Given the description of an element on the screen output the (x, y) to click on. 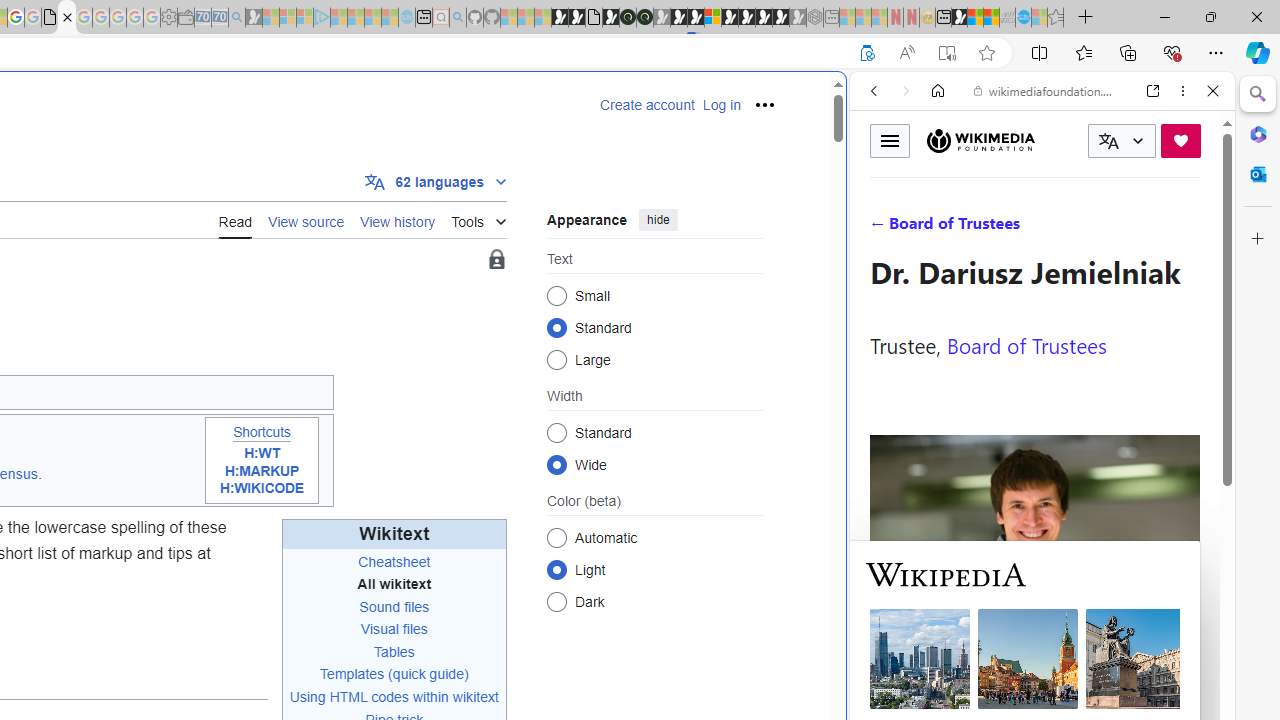
Small (556, 295)
Visual files (394, 628)
Close split screen (844, 102)
Page semi-protected (496, 259)
